Given the description of an element on the screen output the (x, y) to click on. 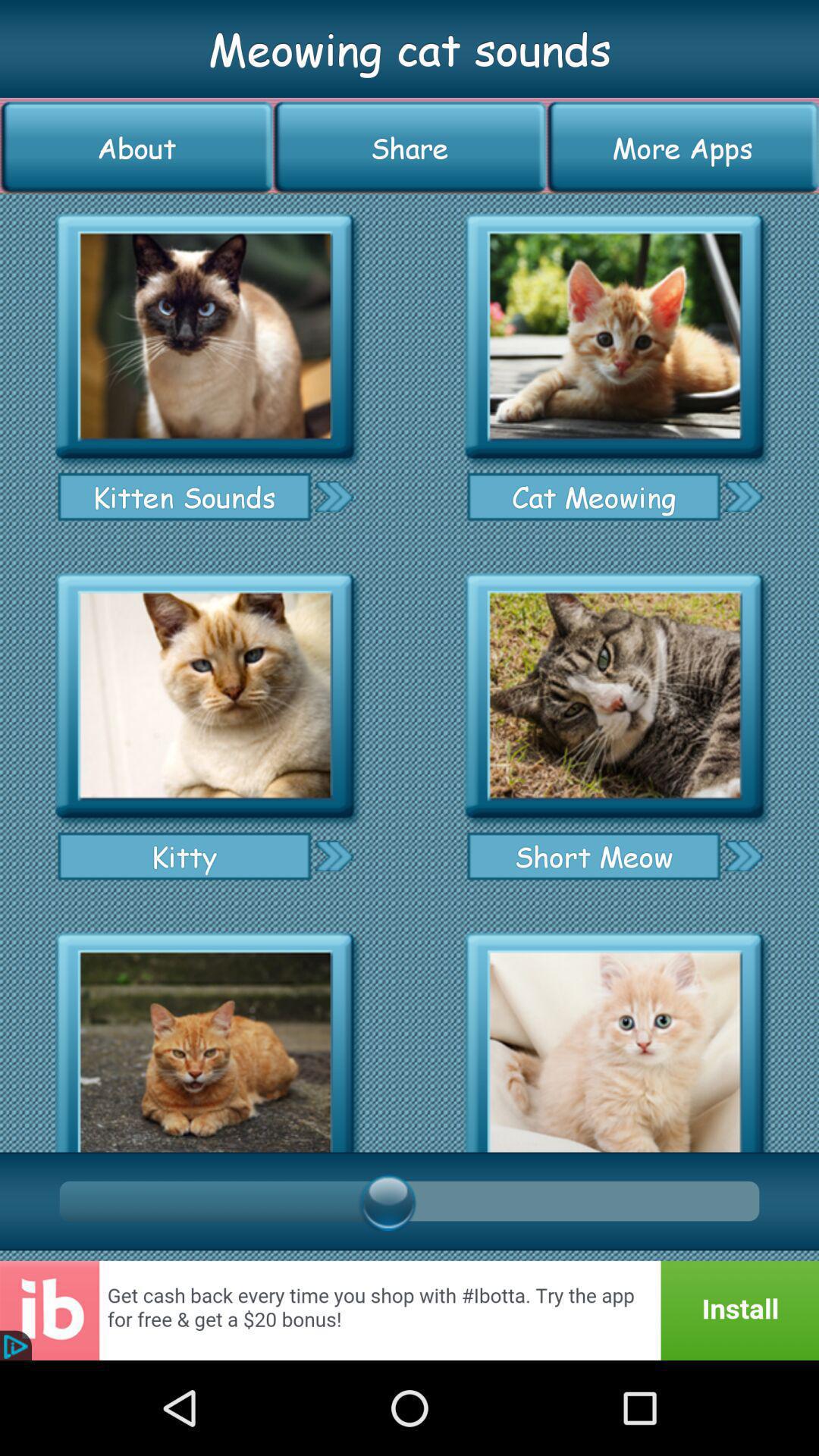
press the share item (409, 147)
